Given the description of an element on the screen output the (x, y) to click on. 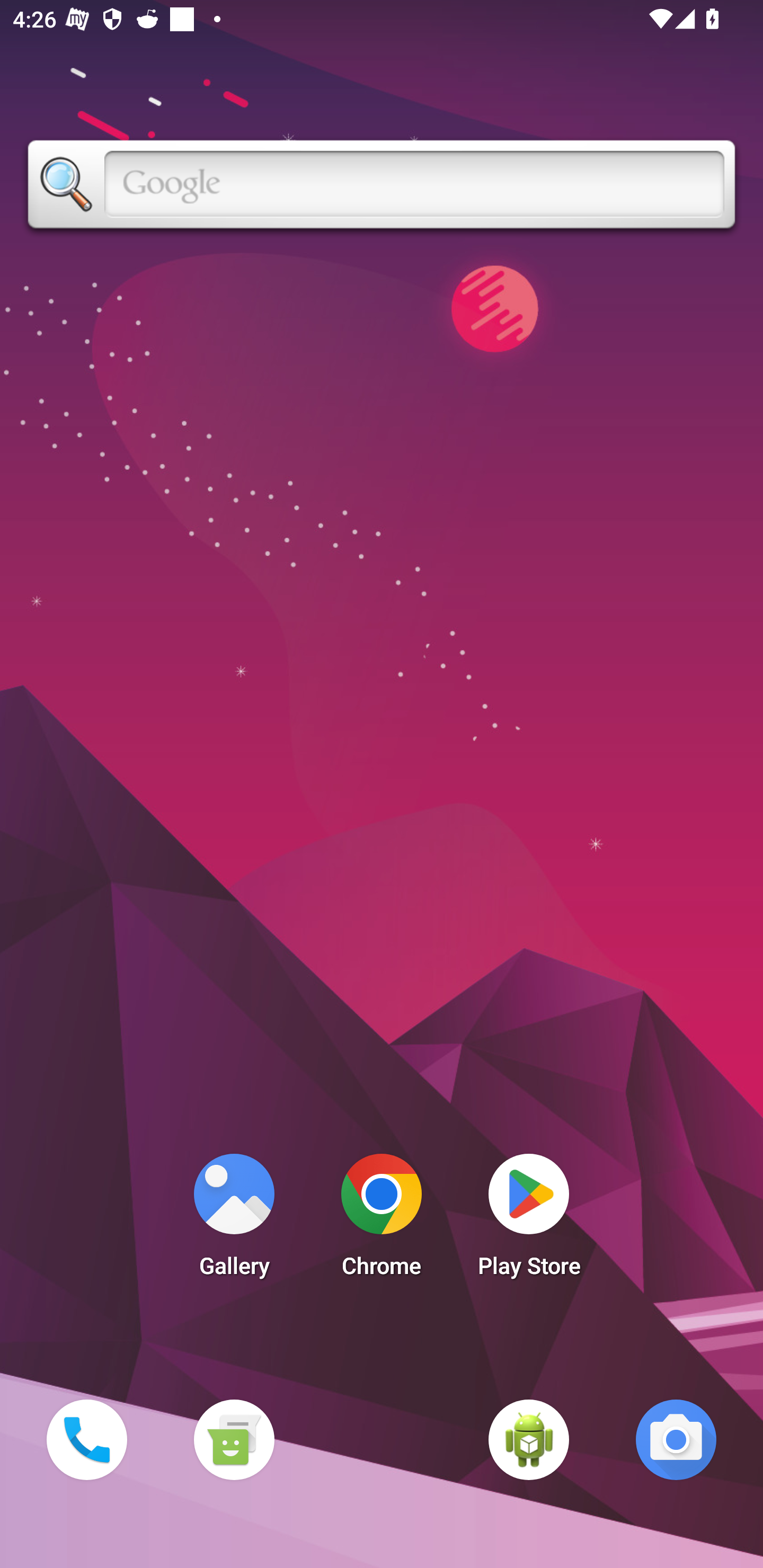
Gallery (233, 1220)
Chrome (381, 1220)
Play Store (528, 1220)
Phone (86, 1439)
Messaging (233, 1439)
WebView Browser Tester (528, 1439)
Camera (676, 1439)
